Given the description of an element on the screen output the (x, y) to click on. 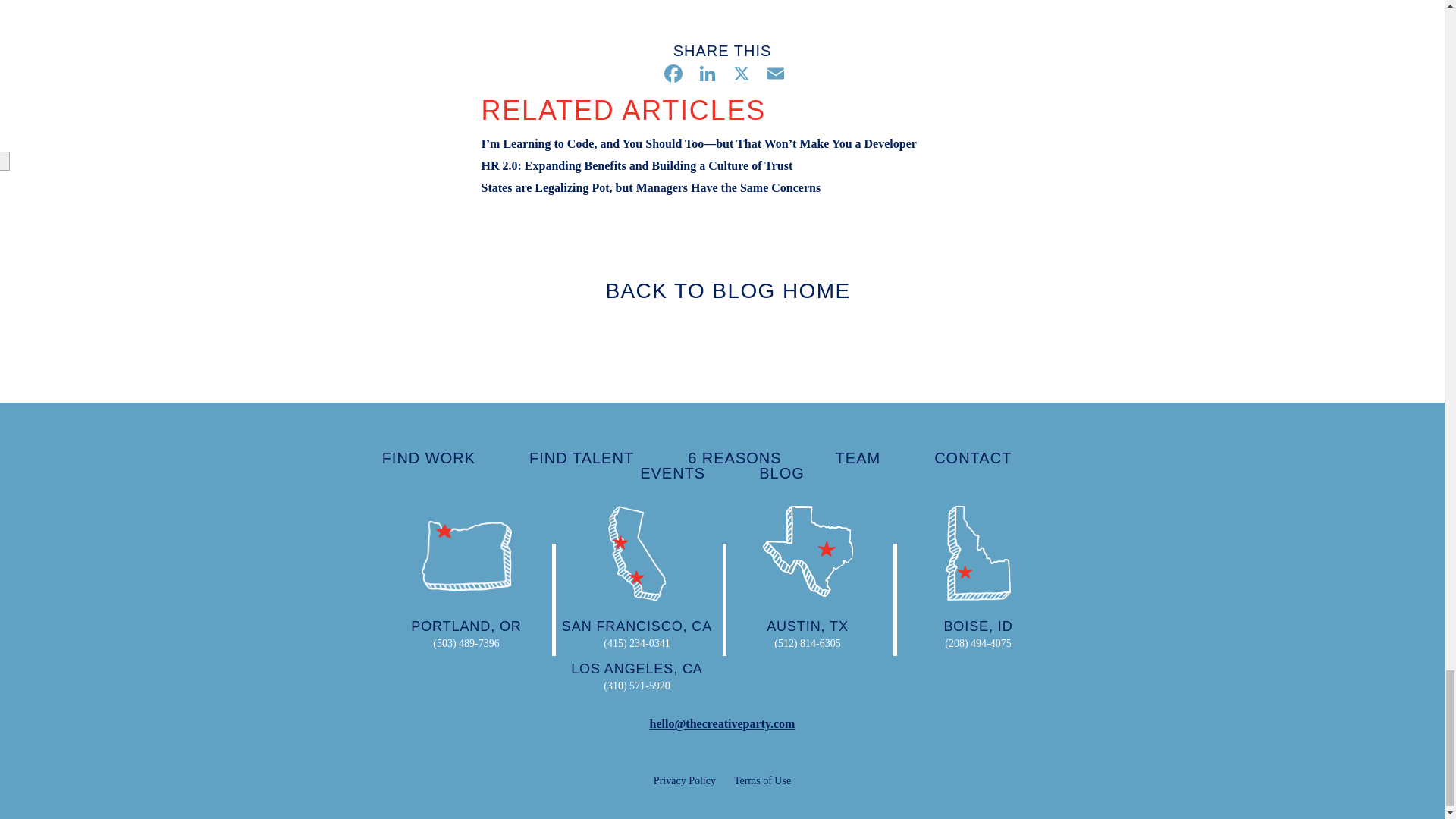
BACK TO BLOG HOME (722, 290)
FIND TALENT (581, 457)
FIND WORK (428, 457)
LinkedIn (705, 75)
Email (773, 75)
6 REASONS (733, 457)
LinkedIn (705, 75)
Facebook (670, 75)
TEAM (857, 457)
X (738, 75)
Facebook (670, 75)
X (738, 75)
Email (773, 75)
HR 2.0: Expanding Benefits and Building a Culture of Trust (636, 164)
